Given the description of an element on the screen output the (x, y) to click on. 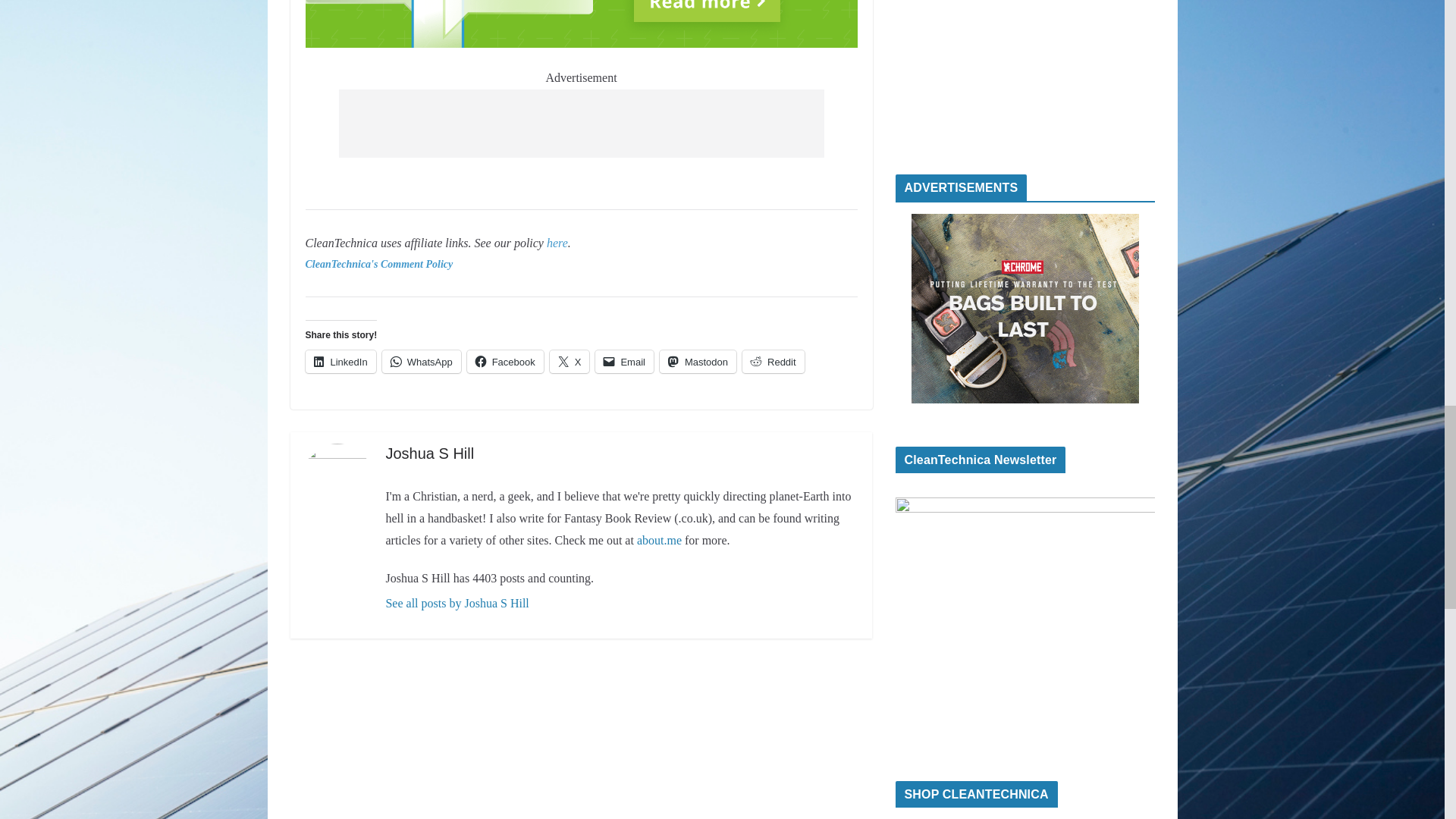
Click to share on Reddit (773, 361)
Click to share on Facebook (505, 361)
Click to email a link to a friend (624, 361)
Click to share on X (569, 361)
Click to share on Mastodon (697, 361)
Click to share on WhatsApp (421, 361)
Click to share on LinkedIn (339, 361)
